Given the description of an element on the screen output the (x, y) to click on. 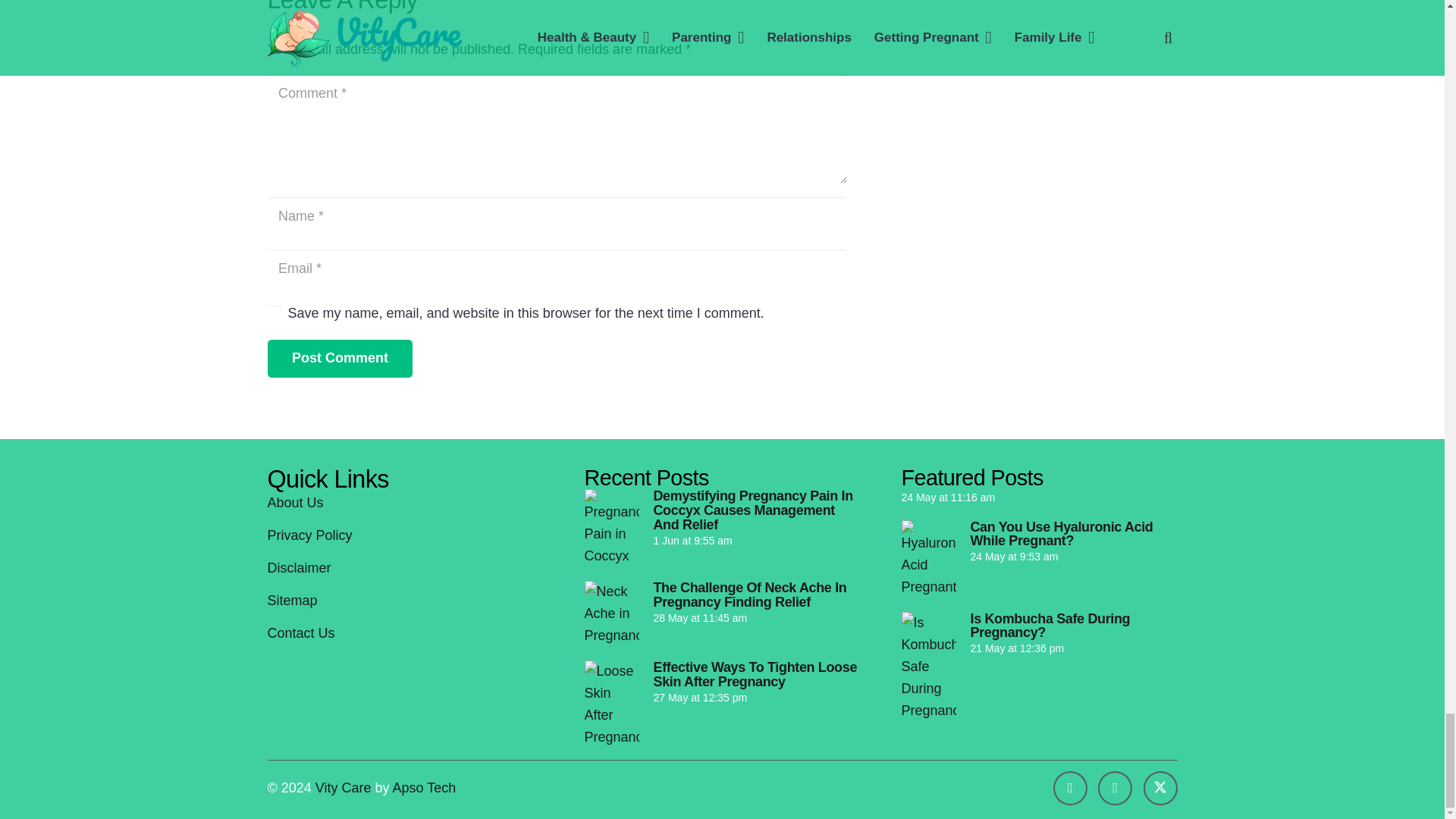
1 (274, 313)
